Given the description of an element on the screen output the (x, y) to click on. 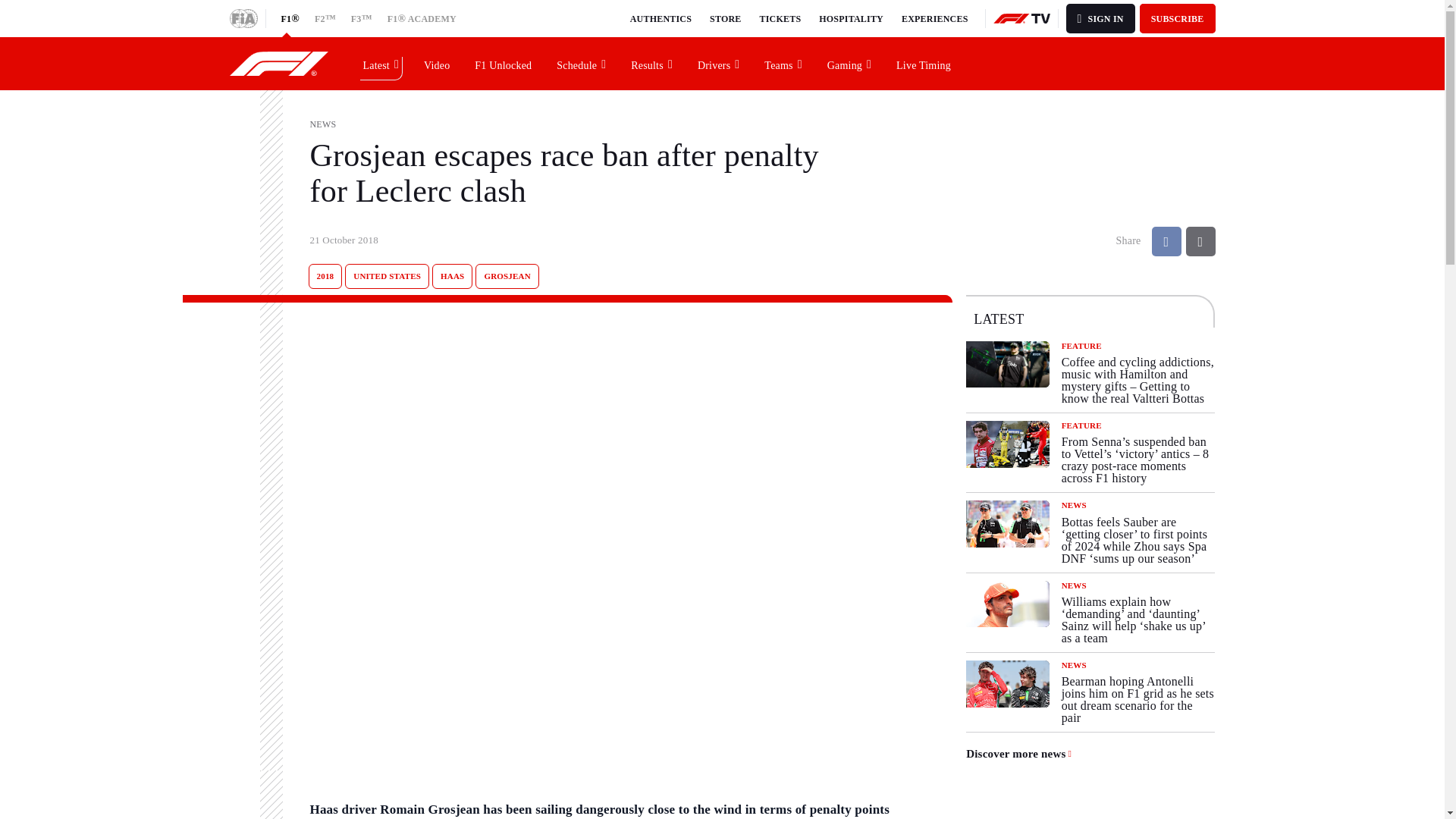
EXPERIENCES (934, 18)
Live Timing (923, 63)
HAAS (451, 276)
HOSPITALITY (850, 18)
TICKETS (781, 18)
Schedule (581, 63)
Results (651, 63)
GROSJEAN (507, 276)
F1 Unlocked (503, 63)
